Given the description of an element on the screen output the (x, y) to click on. 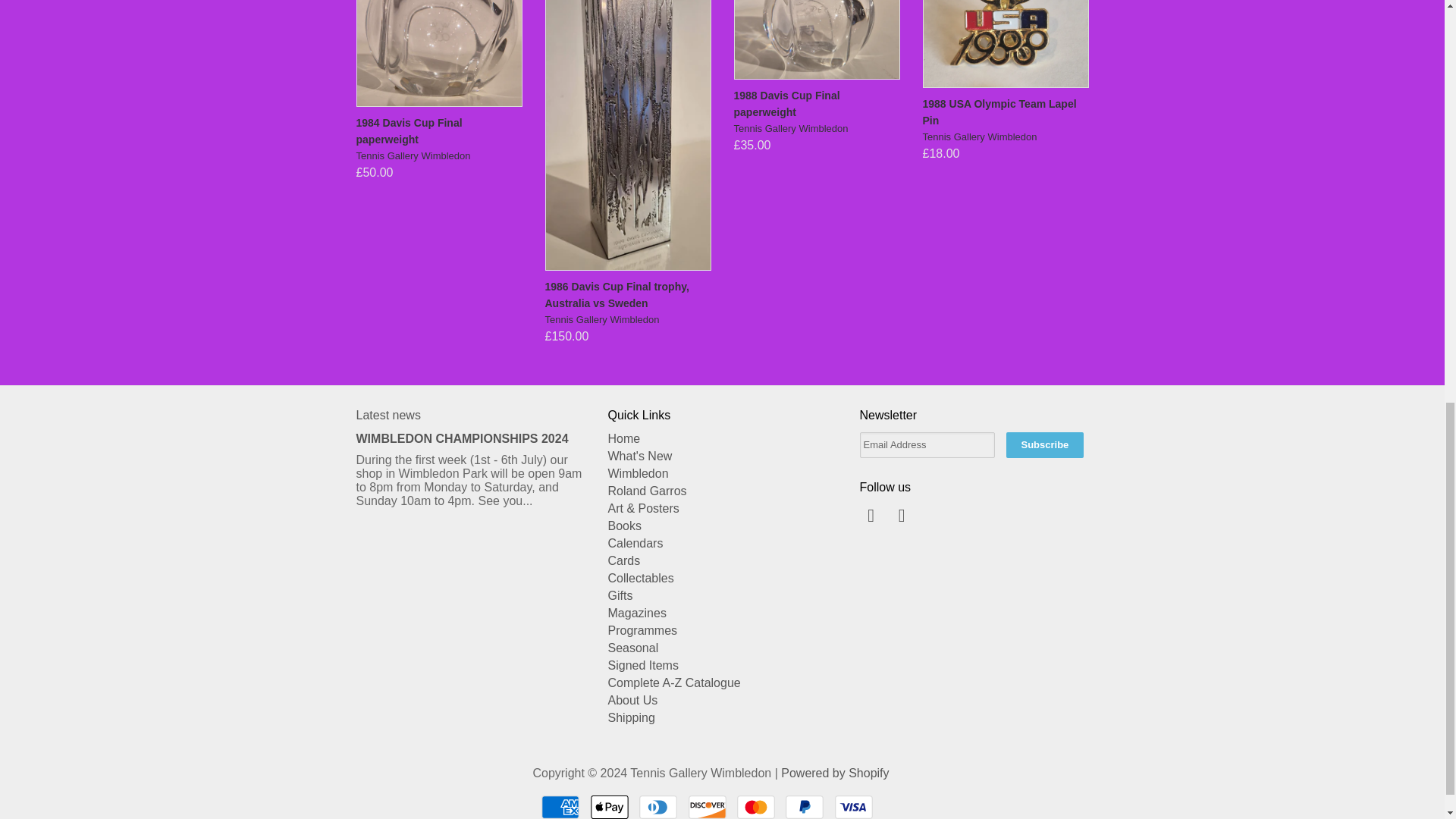
Complete A-Z Catalogue (674, 682)
About Us (633, 699)
Cards (624, 560)
Magazines (637, 612)
Wimbledon (638, 472)
What's New (640, 455)
Subscribe (1044, 444)
Seasonal (633, 647)
Home (624, 438)
Calendars (635, 543)
Books (625, 525)
Signed Items (643, 665)
Collectables (641, 577)
Gifts (620, 594)
Programmes (643, 630)
